Given the description of an element on the screen output the (x, y) to click on. 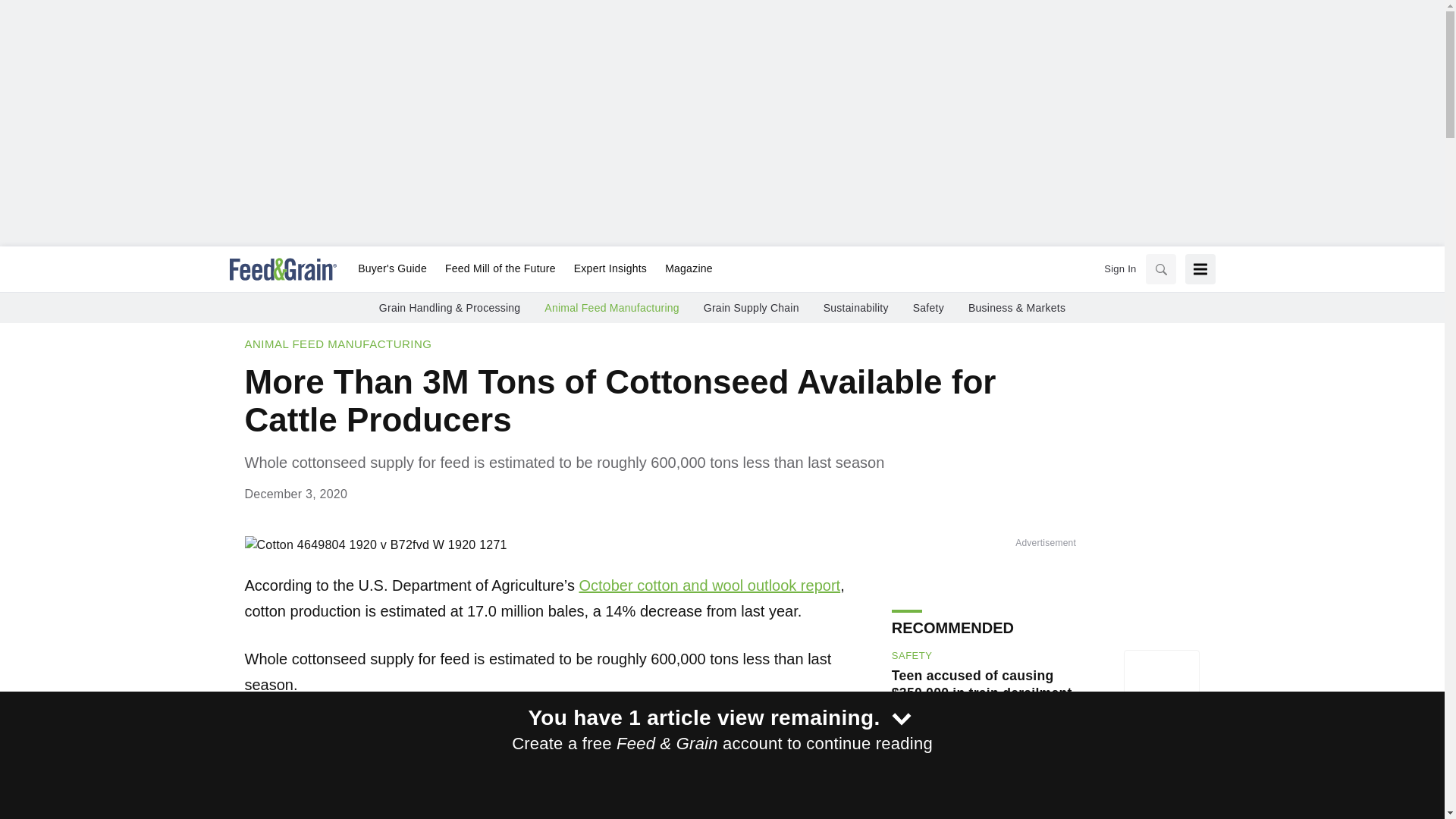
Animal Feed Manufacturing (611, 307)
Animal Feed Manufacturing (337, 343)
Safety (912, 656)
Feed Mill of the Future (499, 269)
Expert Insights (610, 269)
Safety (927, 307)
Magazine (684, 269)
Sustainability (856, 307)
Grain Supply Chain (751, 307)
Sign In (1119, 268)
Buyer's Guide (392, 269)
